Given the description of an element on the screen output the (x, y) to click on. 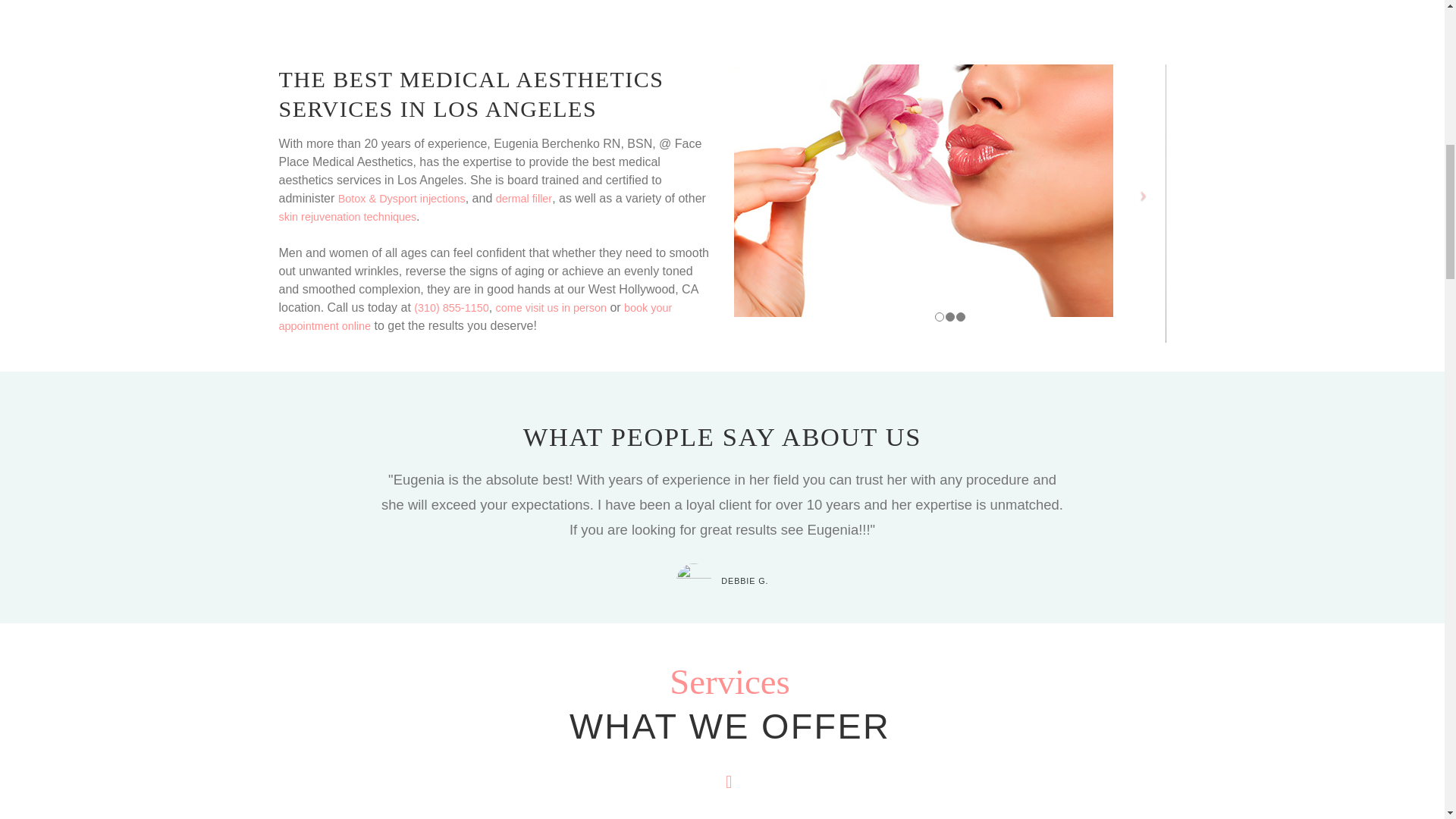
Kybella Specialist Eugenia, West Hollywood (923, 190)
